Given the description of an element on the screen output the (x, y) to click on. 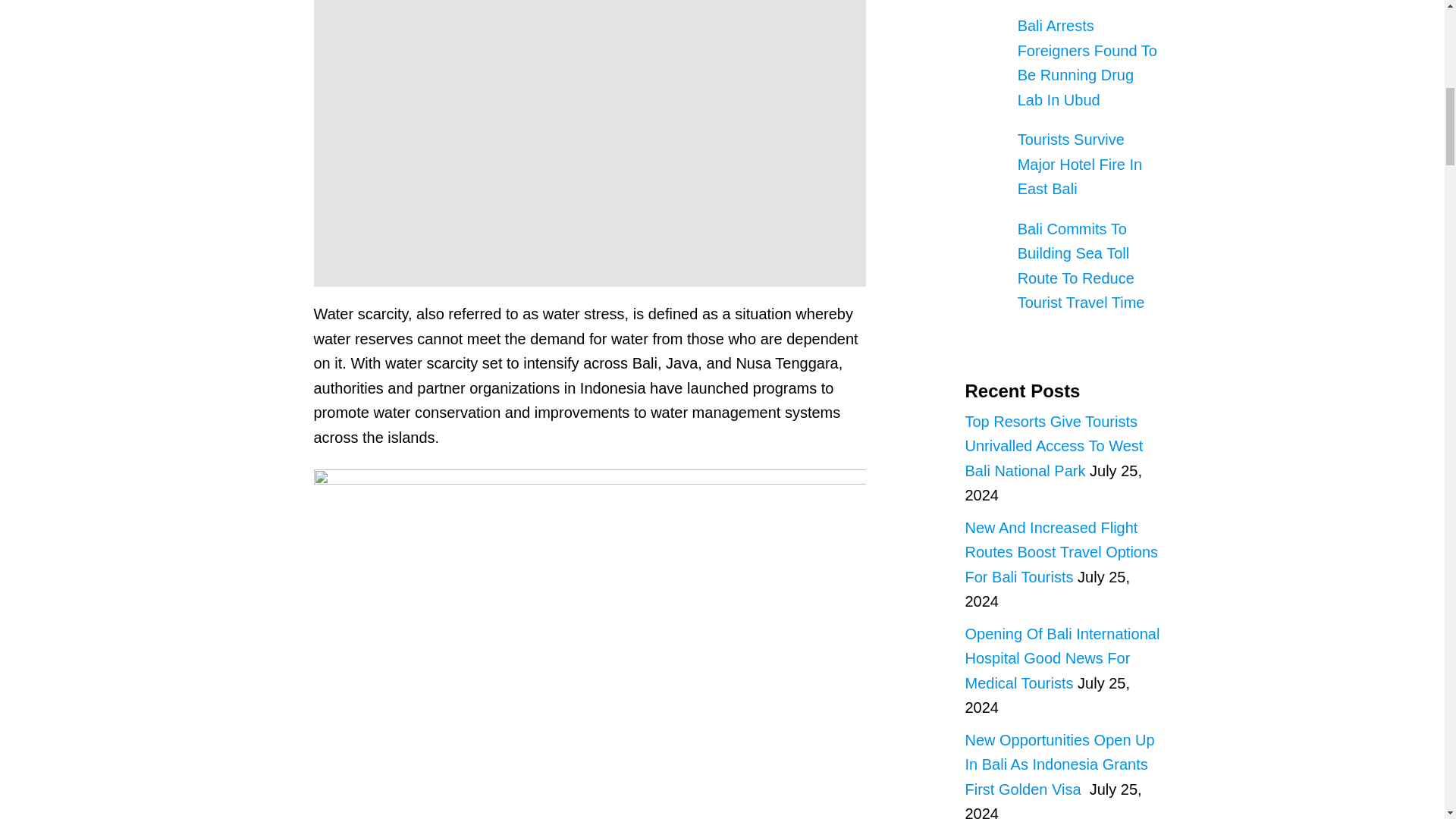
Bali Arrests Foreigners Found To Be Running Drug Lab In Ubud (1087, 62)
